Given the description of an element on the screen output the (x, y) to click on. 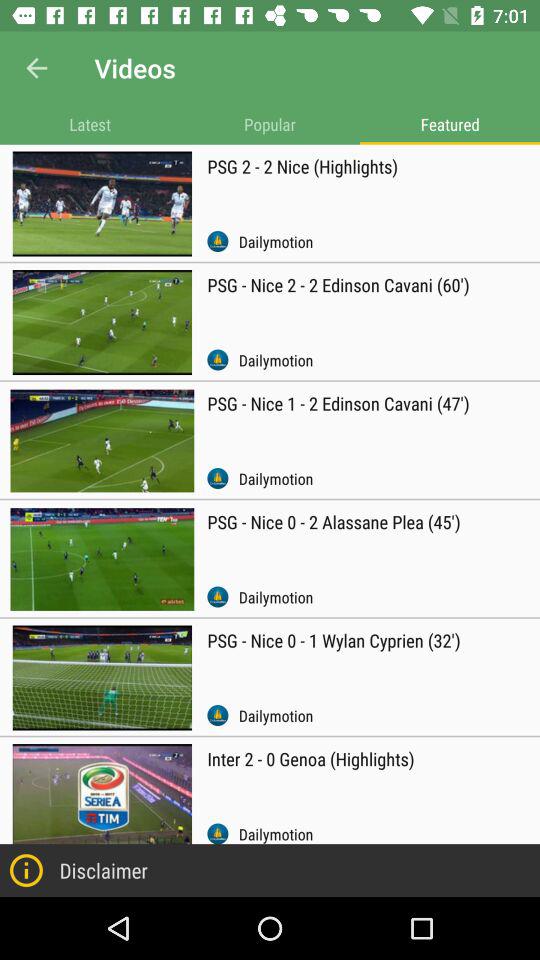
scroll to popular app (270, 124)
